Given the description of an element on the screen output the (x, y) to click on. 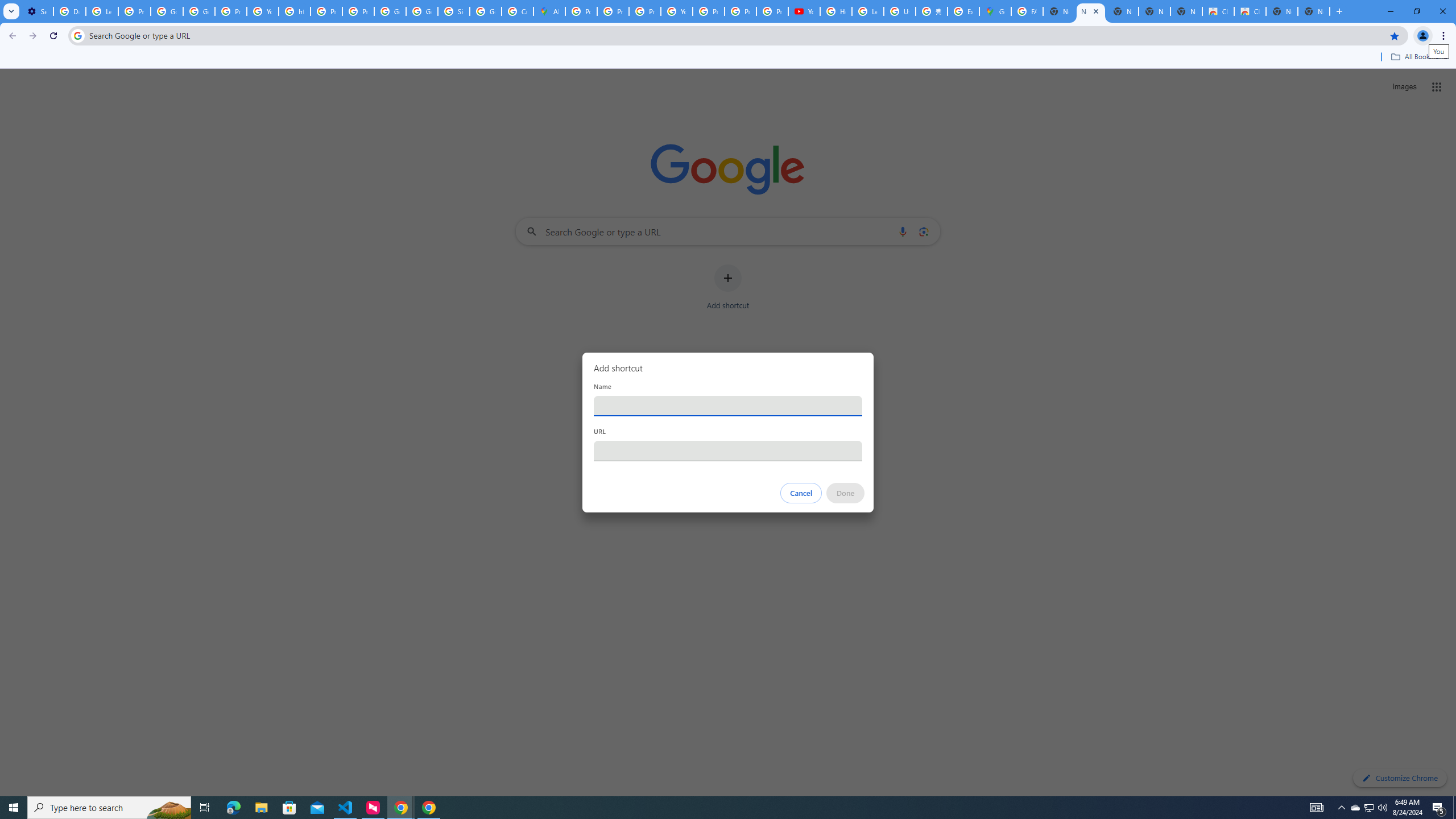
Name (727, 405)
New Tab (1313, 11)
Delete photos & videos - Computer - Google Photos Help (69, 11)
https://scholar.google.com/ (294, 11)
Explore new street-level details - Google Maps Help (963, 11)
